Given the description of an element on the screen output the (x, y) to click on. 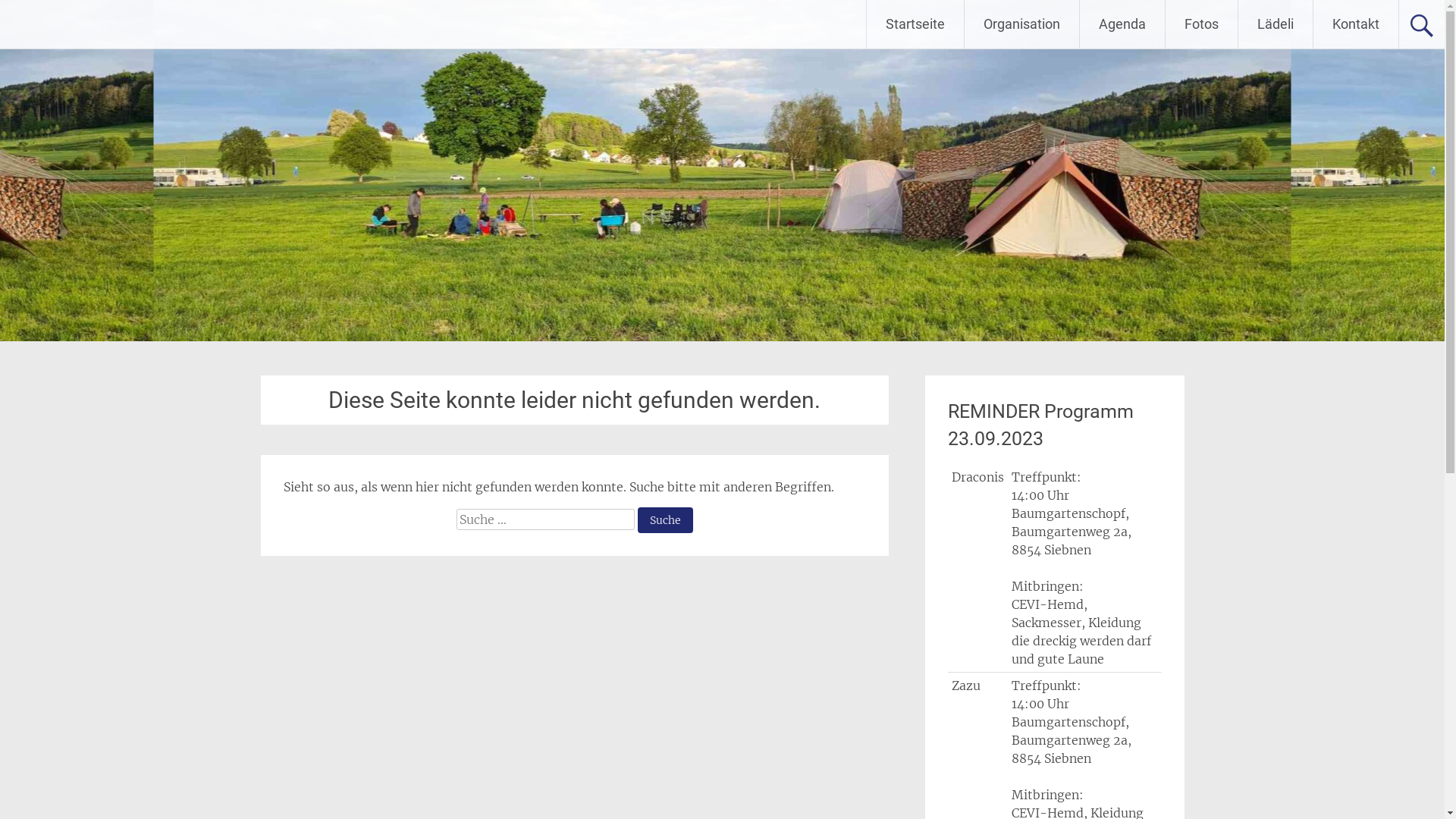
Agenda Element type: text (1121, 24)
CEVI March Element type: text (89, 24)
Organisation Element type: text (1021, 24)
Suche Element type: text (665, 520)
Fotos Element type: text (1201, 24)
Kontakt Element type: text (1355, 24)
Startseite Element type: text (914, 24)
